Given the description of an element on the screen output the (x, y) to click on. 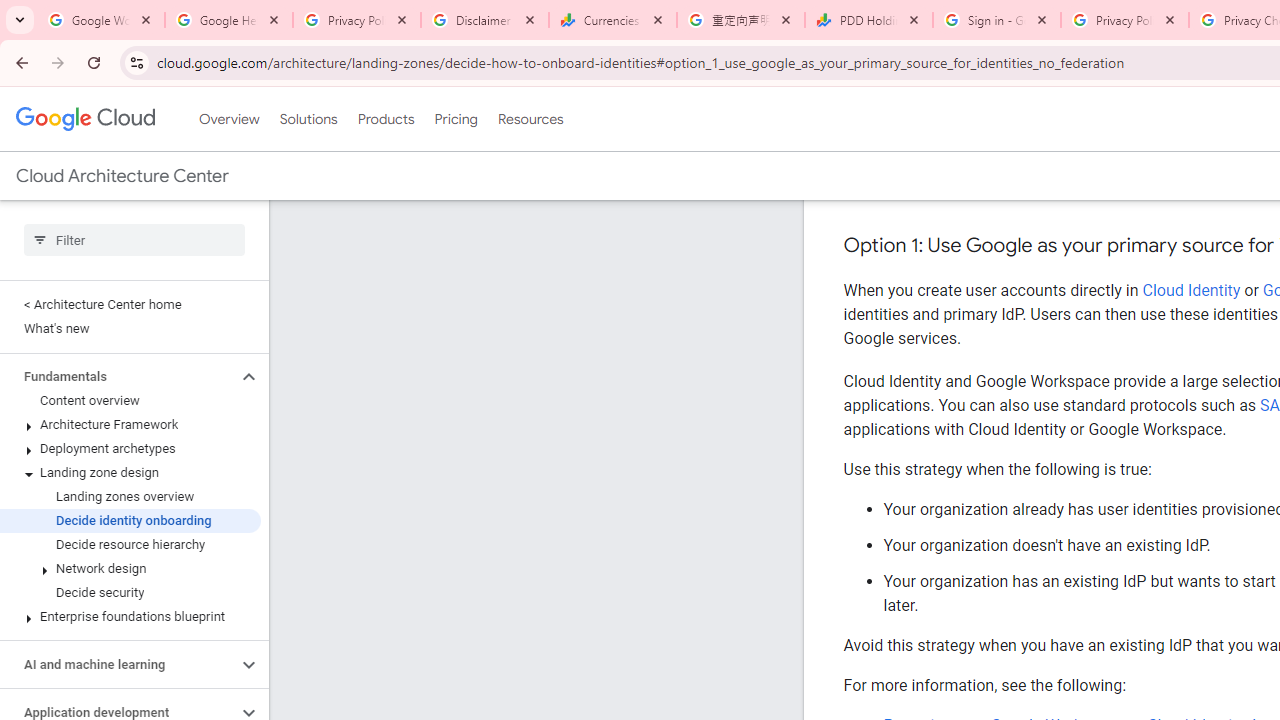
Decide security (130, 592)
Currencies - Google Finance (613, 20)
Google Cloud (84, 118)
What's new (130, 328)
Solutions (308, 119)
AI and machine learning (118, 664)
Type to filter (134, 239)
